Given the description of an element on the screen output the (x, y) to click on. 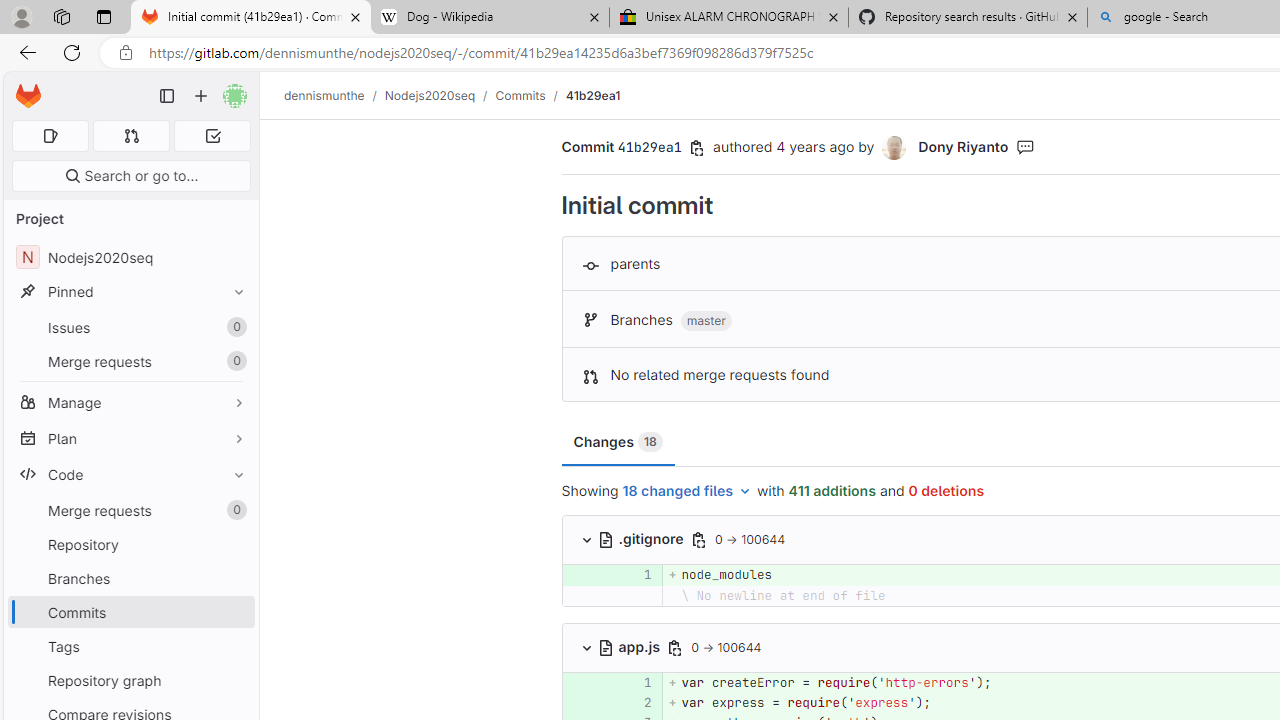
Dony Riyanto's avatar (896, 148)
